Given the description of an element on the screen output the (x, y) to click on. 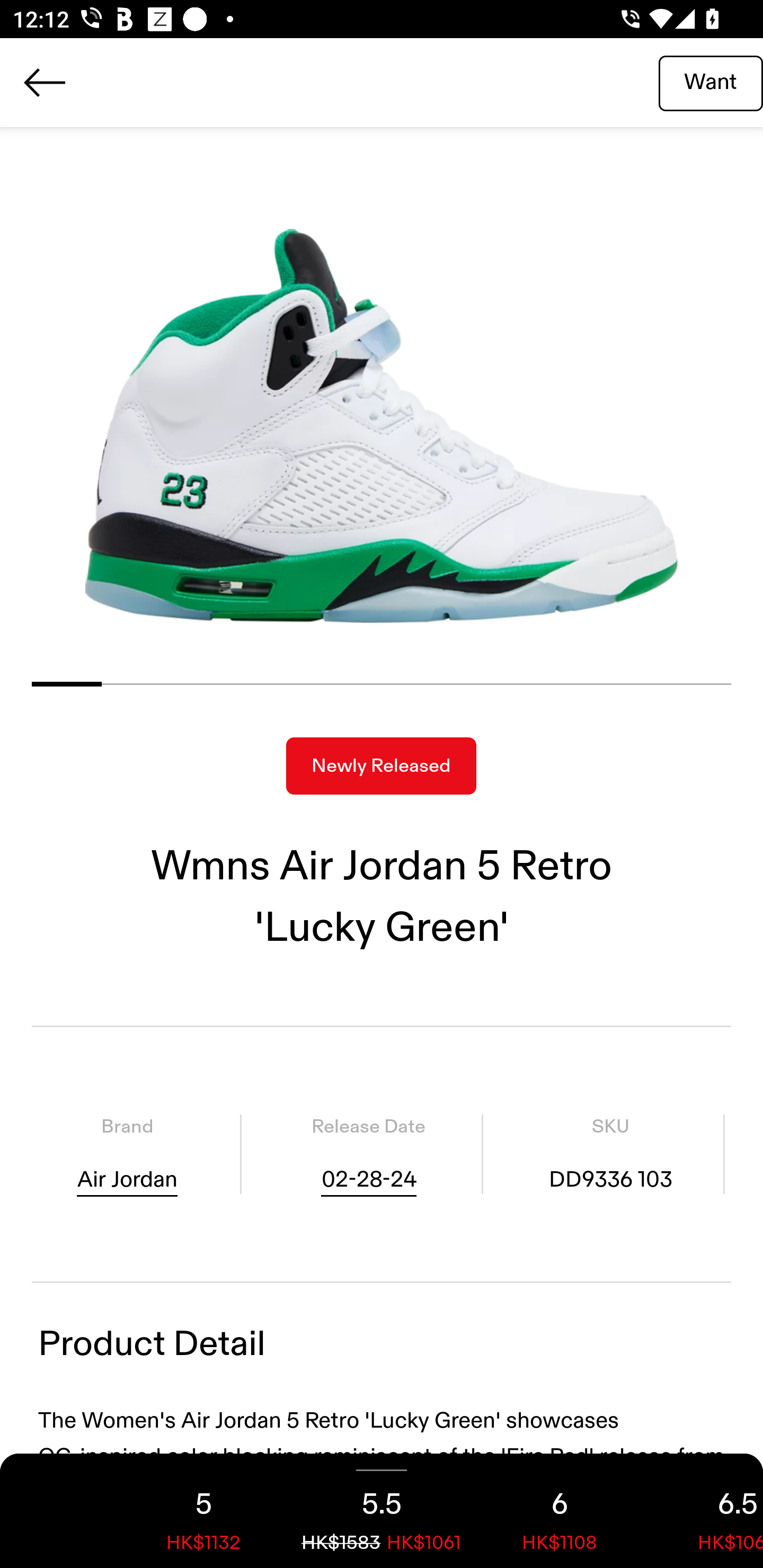
Want (710, 82)
Newly Released (381, 765)
Brand Air Jordan (126, 1153)
Release Date 02-28-24 (368, 1153)
SKU DD9336 103 (609, 1153)
5 HK$1132 (203, 1510)
5.5 HK$1583 HK$1061 (381, 1510)
6 HK$1108 (559, 1510)
6.5 HK$1068 (705, 1510)
